Given the description of an element on the screen output the (x, y) to click on. 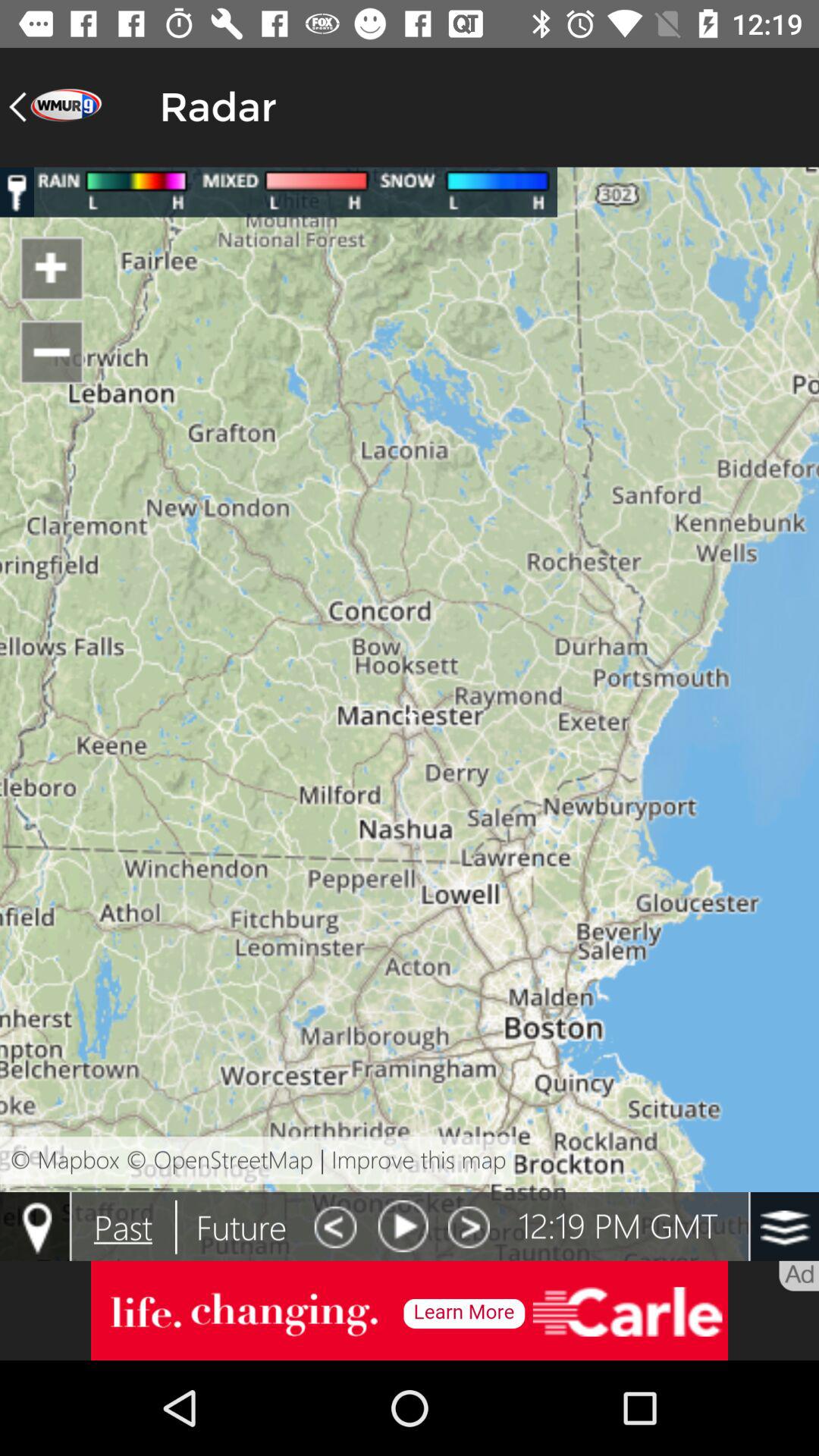
advertisement page (409, 1310)
